Given the description of an element on the screen output the (x, y) to click on. 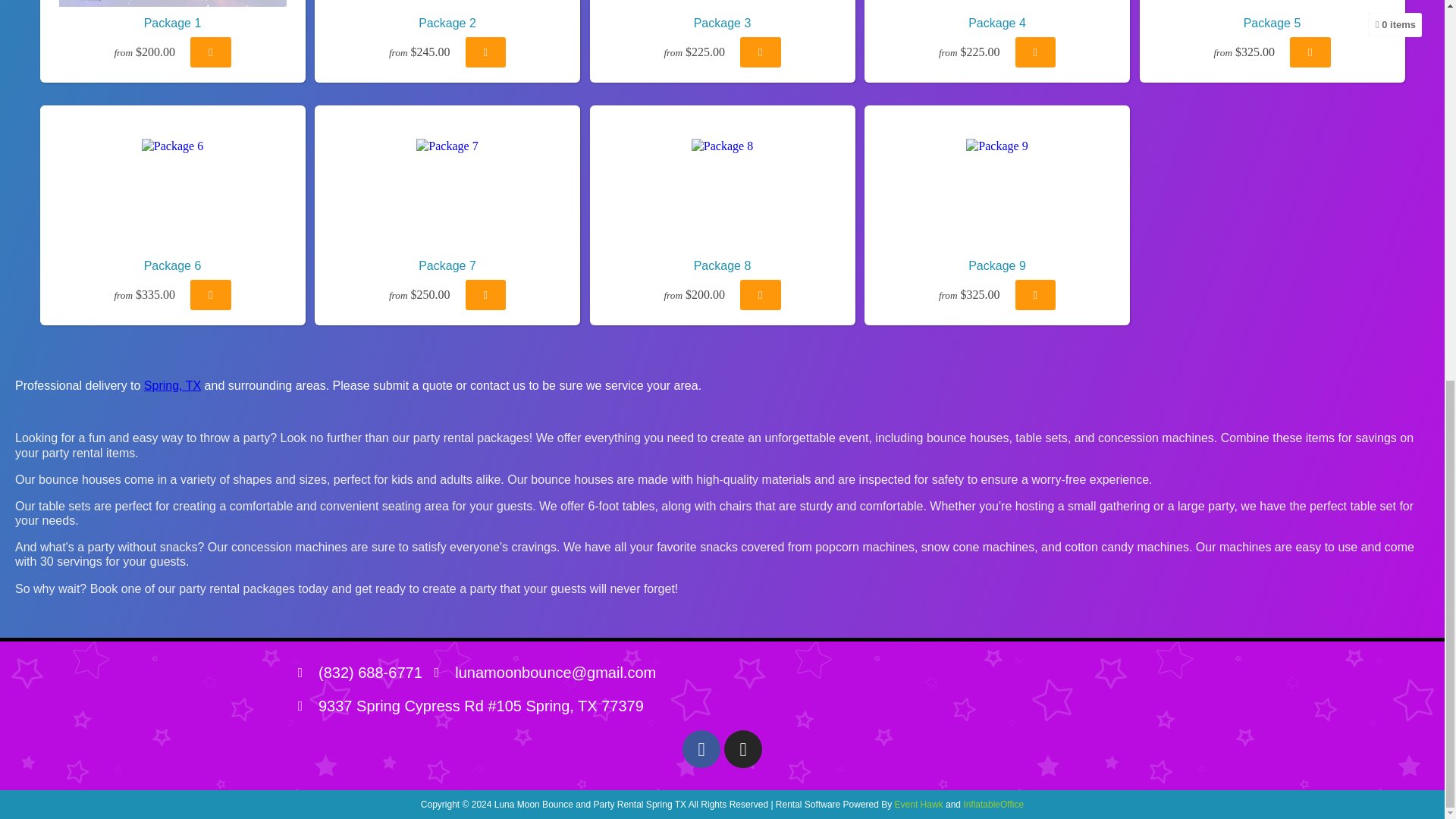
Package 1 (172, 3)
